Given the description of an element on the screen output the (x, y) to click on. 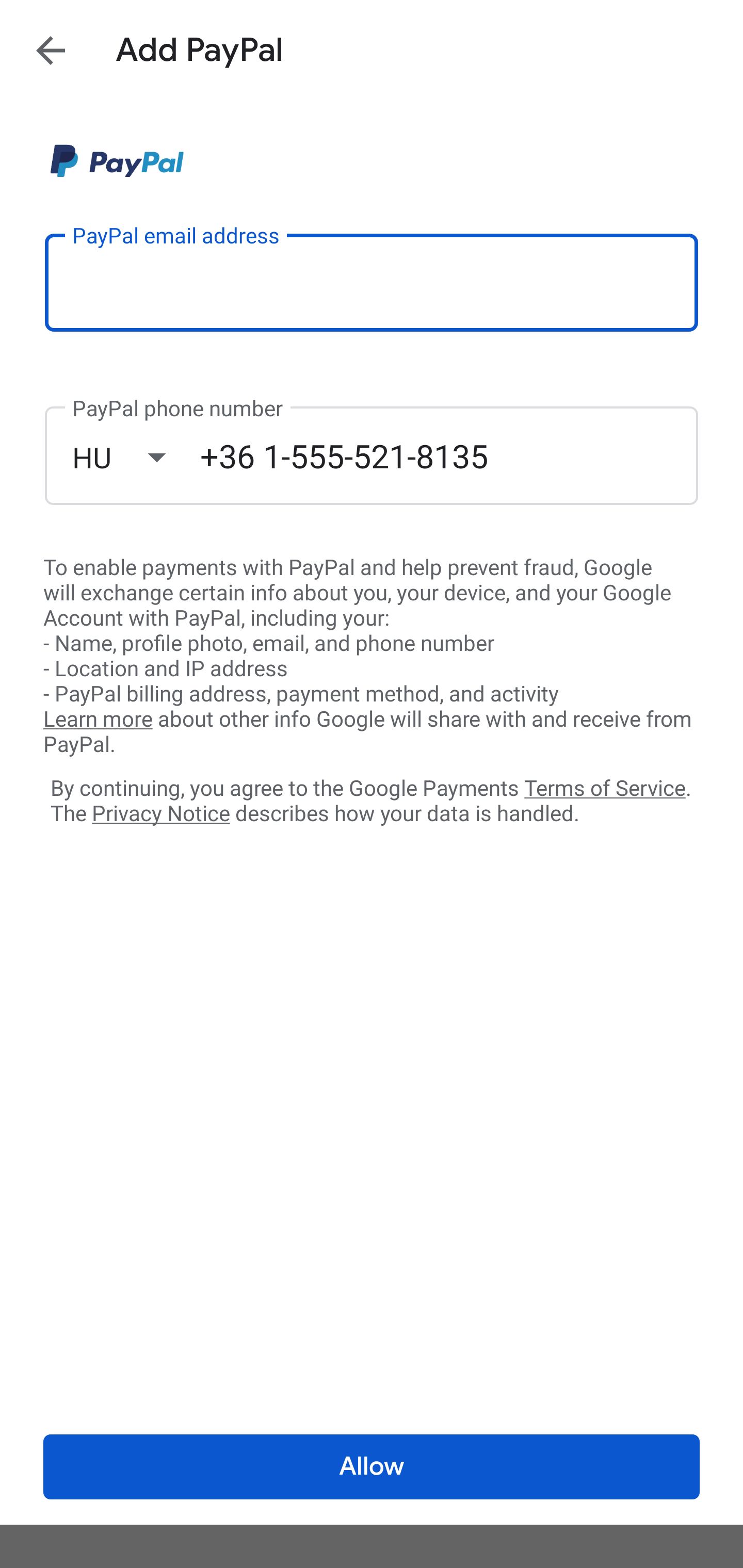
Navigate up (50, 50)
PayPal email address (371, 282)
HU (135, 456)
Learn more (97, 719)
Terms of Service (604, 787)
Privacy Notice (160, 814)
Allow (371, 1466)
